Given the description of an element on the screen output the (x, y) to click on. 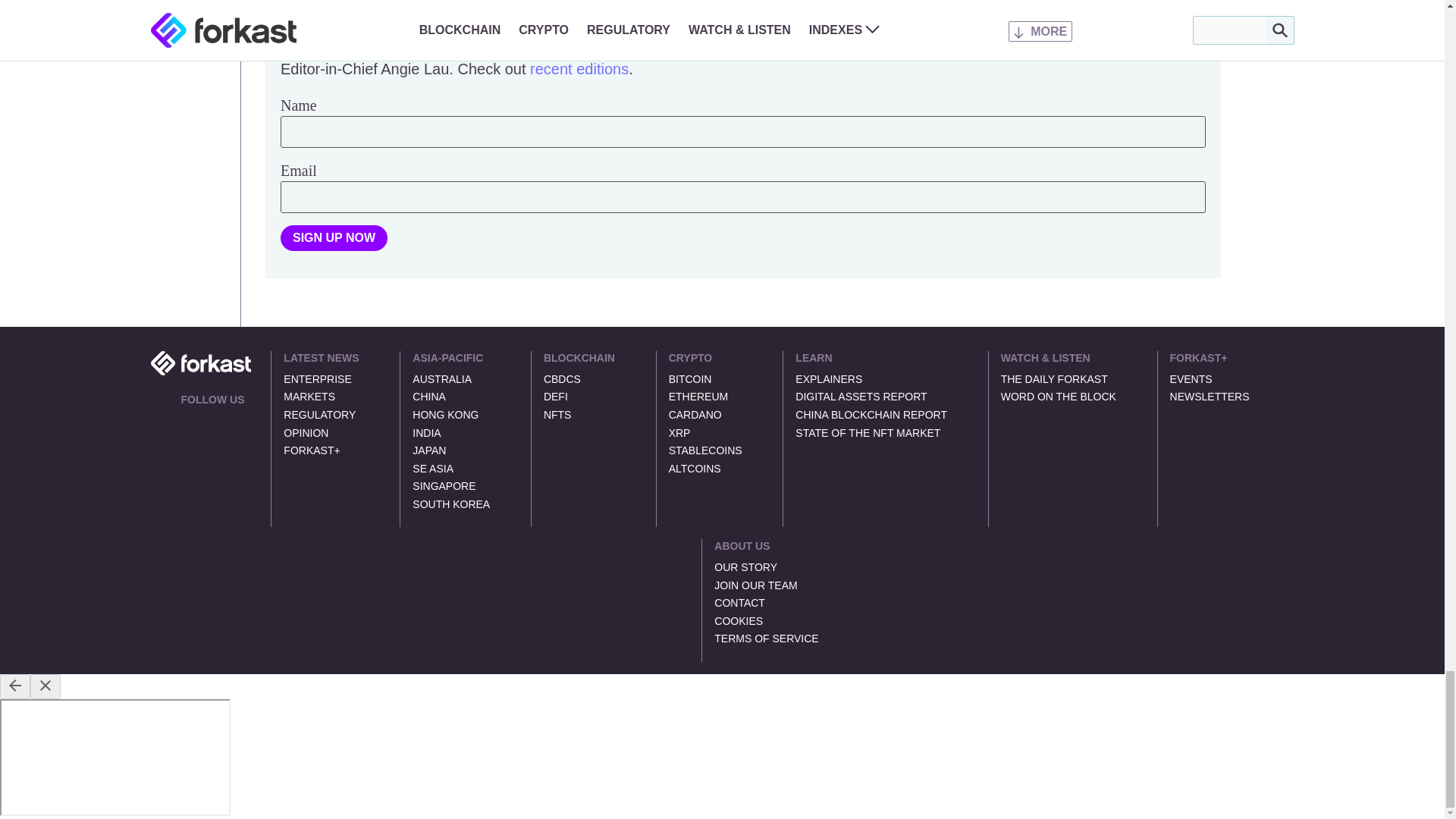
Forkast's profile on Facebook (222, 419)
Forkast's profile on LinkedIn (204, 419)
Forkast's profile on Twitter (186, 419)
Forkast's profile on Instagram (240, 419)
Sign up now (334, 237)
